Given the description of an element on the screen output the (x, y) to click on. 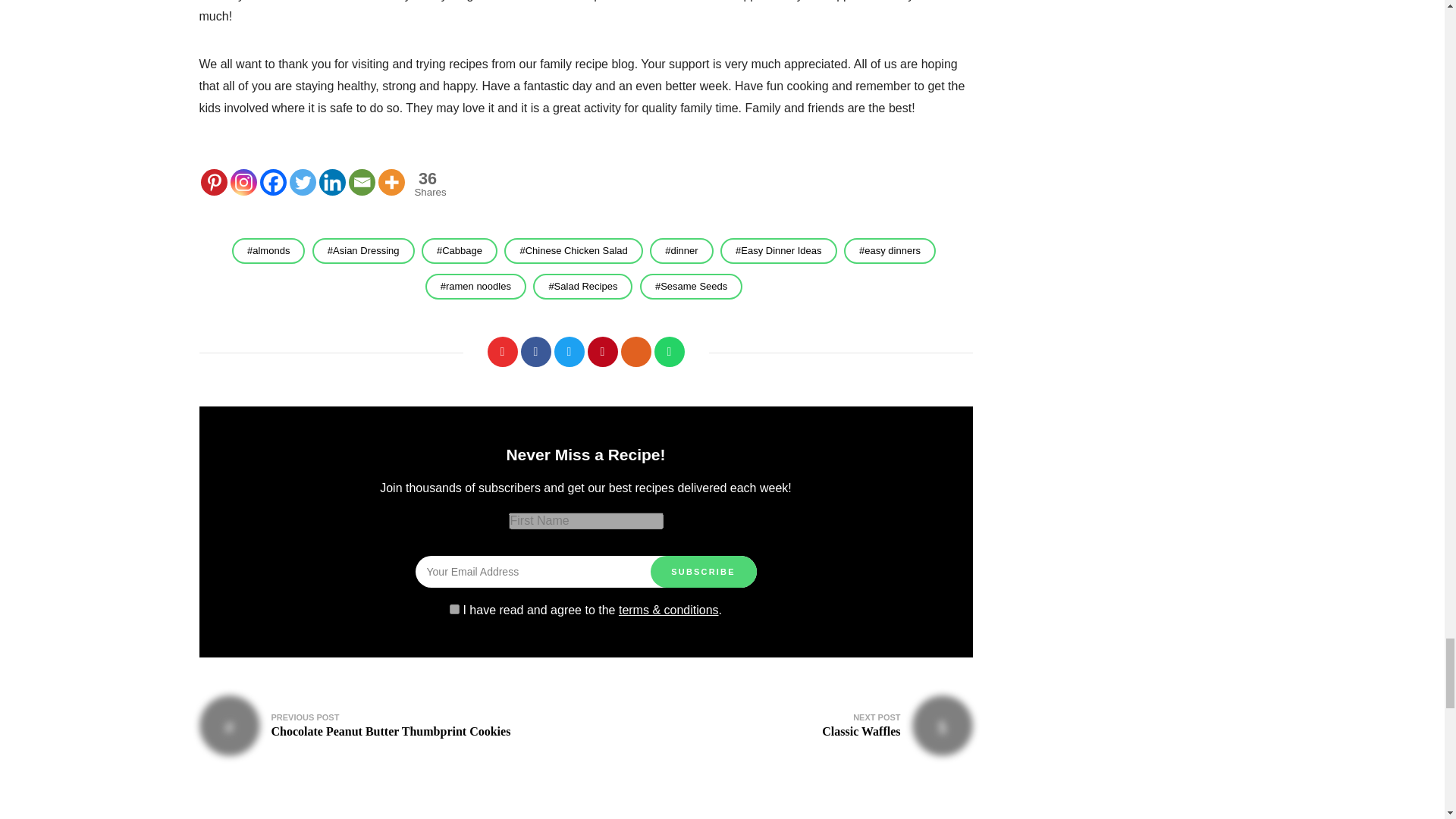
Pinterest (213, 181)
Facebook (272, 181)
Twitter (302, 181)
Subscribe (703, 572)
Instagram (243, 181)
Linkedin (331, 181)
More (390, 181)
1 (454, 609)
Email (362, 181)
